Given the description of an element on the screen output the (x, y) to click on. 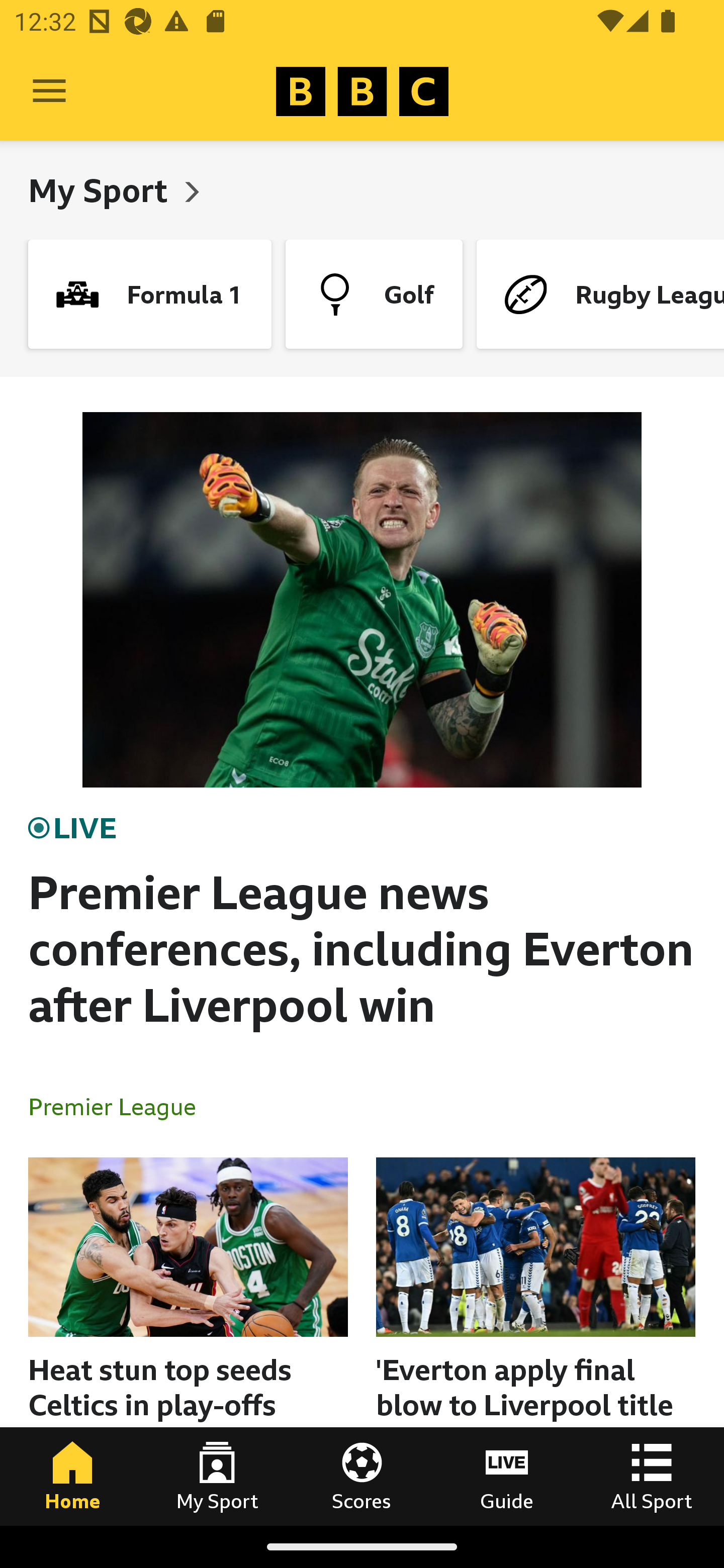
Open Menu (49, 91)
My Sport (101, 190)
Premier League In the section Premier League (119, 1106)
My Sport (216, 1475)
Scores (361, 1475)
Guide (506, 1475)
All Sport (651, 1475)
